Given the description of an element on the screen output the (x, y) to click on. 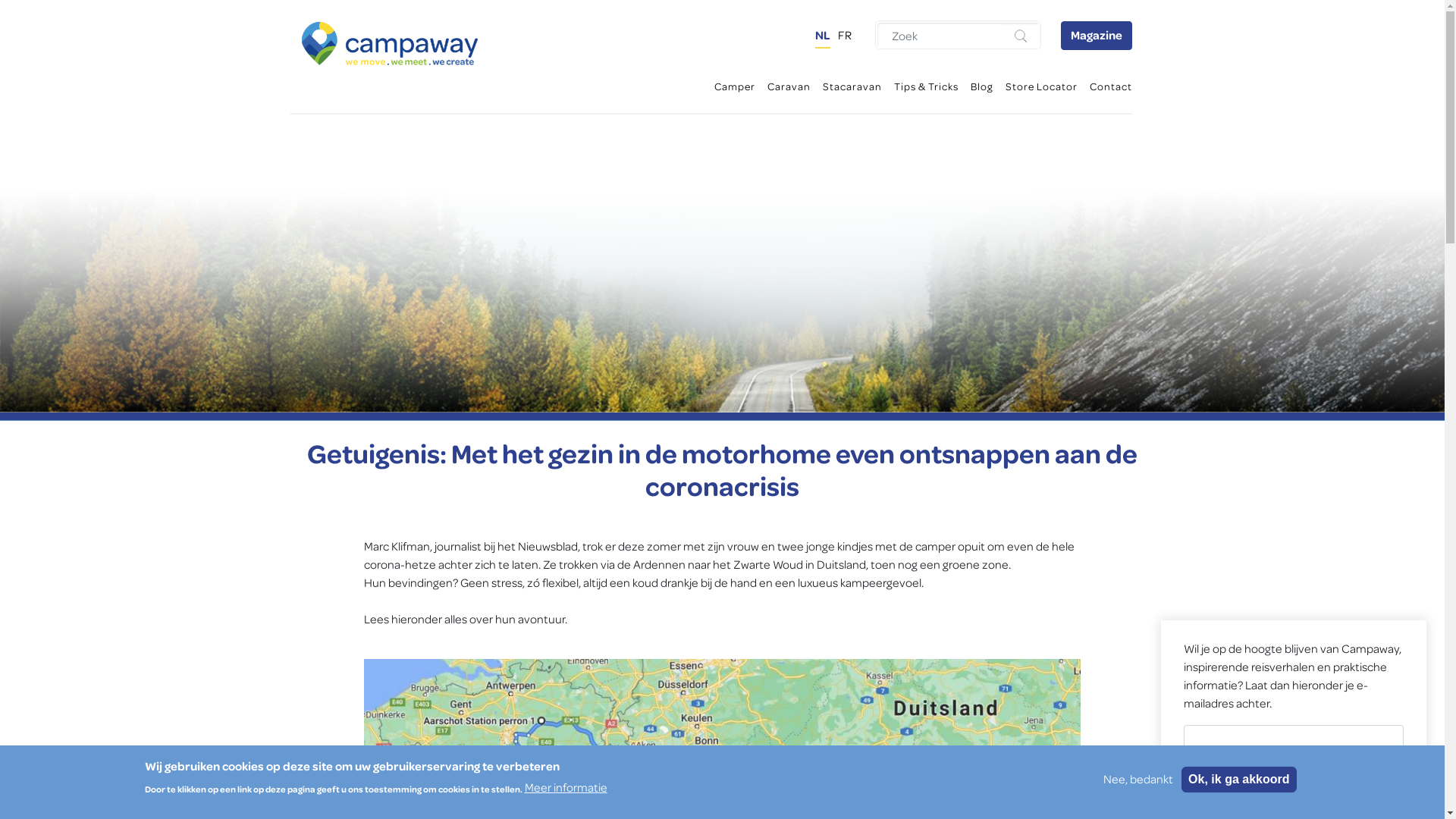
Ik schrijf mij in Element type: text (1293, 779)
Tips & Tricks Element type: text (925, 86)
Stacaravan Element type: text (851, 86)
Store Locator Element type: text (1041, 86)
Geef de woorden op waarnaar u wilt zoeken. Element type: hover (941, 36)
Overslaan en naar de inhoud gaan Element type: text (721, 1)
Magazine Element type: text (1095, 35)
Caravan Element type: text (788, 86)
Ok, ik ga akkoord Element type: text (1238, 779)
Meer informatie Element type: text (565, 787)
Zoeken Element type: text (1021, 35)
Contact Element type: text (1109, 86)
Blog Element type: text (981, 86)
FR Element type: text (843, 35)
NL Element type: text (821, 35)
Camper Element type: text (734, 86)
Scroll back to top Element type: hover (1402, 777)
Nee, bedankt Element type: text (1138, 779)
